Given the description of an element on the screen output the (x, y) to click on. 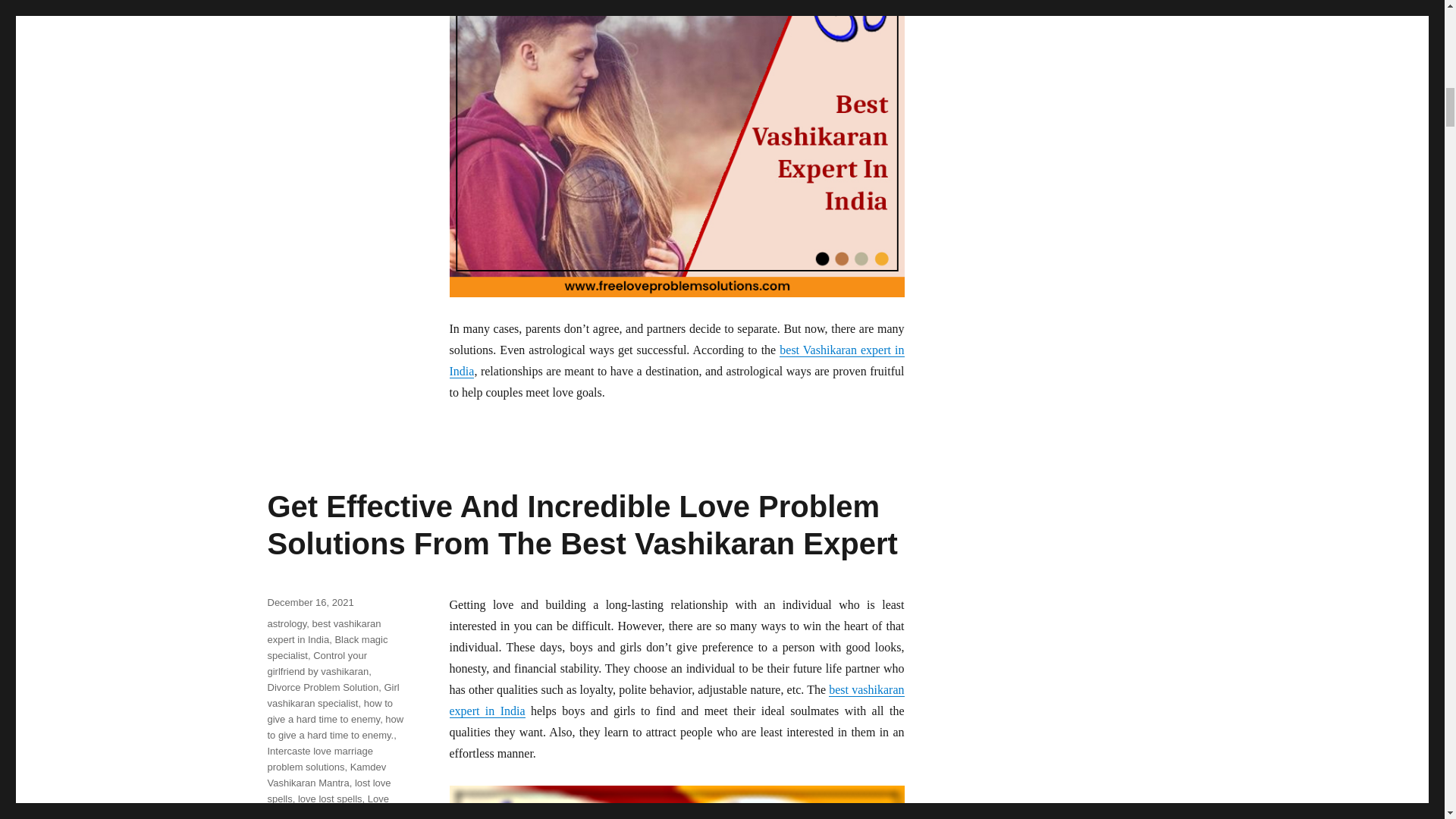
best vashikaran expert in India (676, 699)
best Vashikaran expert in India (676, 359)
